Given the description of an element on the screen output the (x, y) to click on. 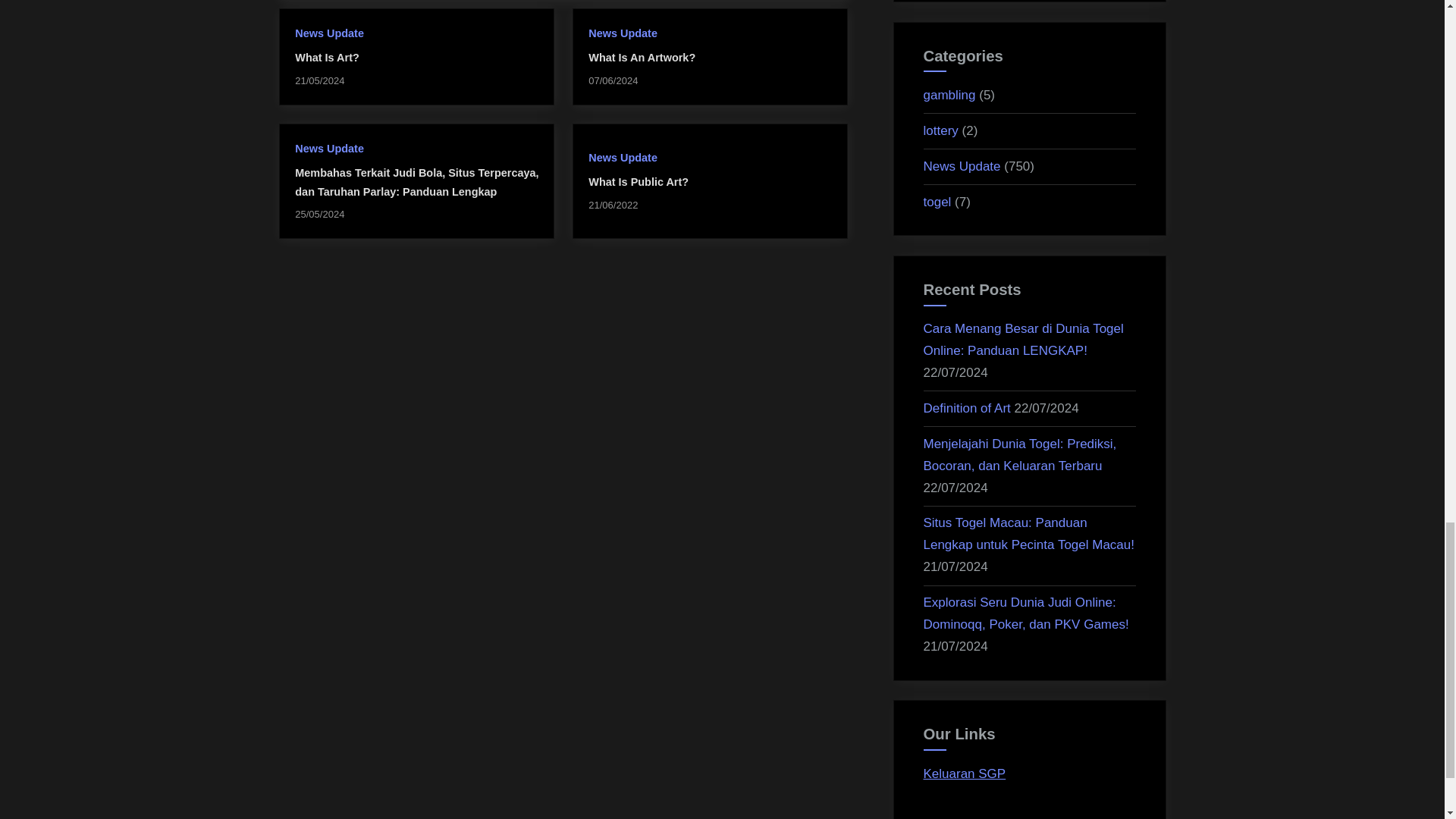
What Is Art? (326, 57)
News Update (329, 148)
News Update (329, 33)
What Is An Artwork? (641, 57)
News Update (623, 157)
What Is Public Art? (638, 182)
News Update (623, 33)
